Given the description of an element on the screen output the (x, y) to click on. 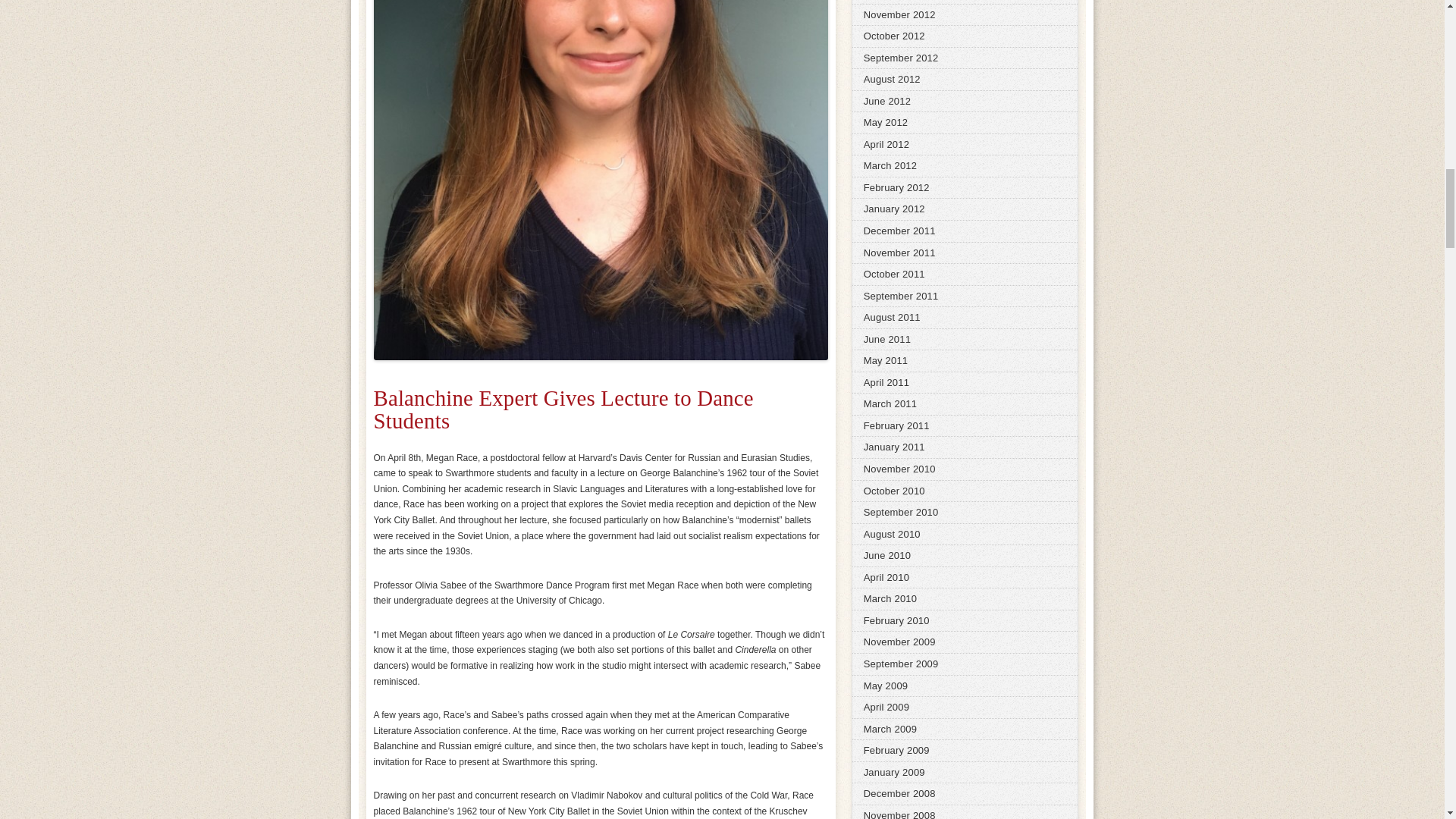
Balanchine Expert Gives Lecture to Dance Students (562, 409)
